Given the description of an element on the screen output the (x, y) to click on. 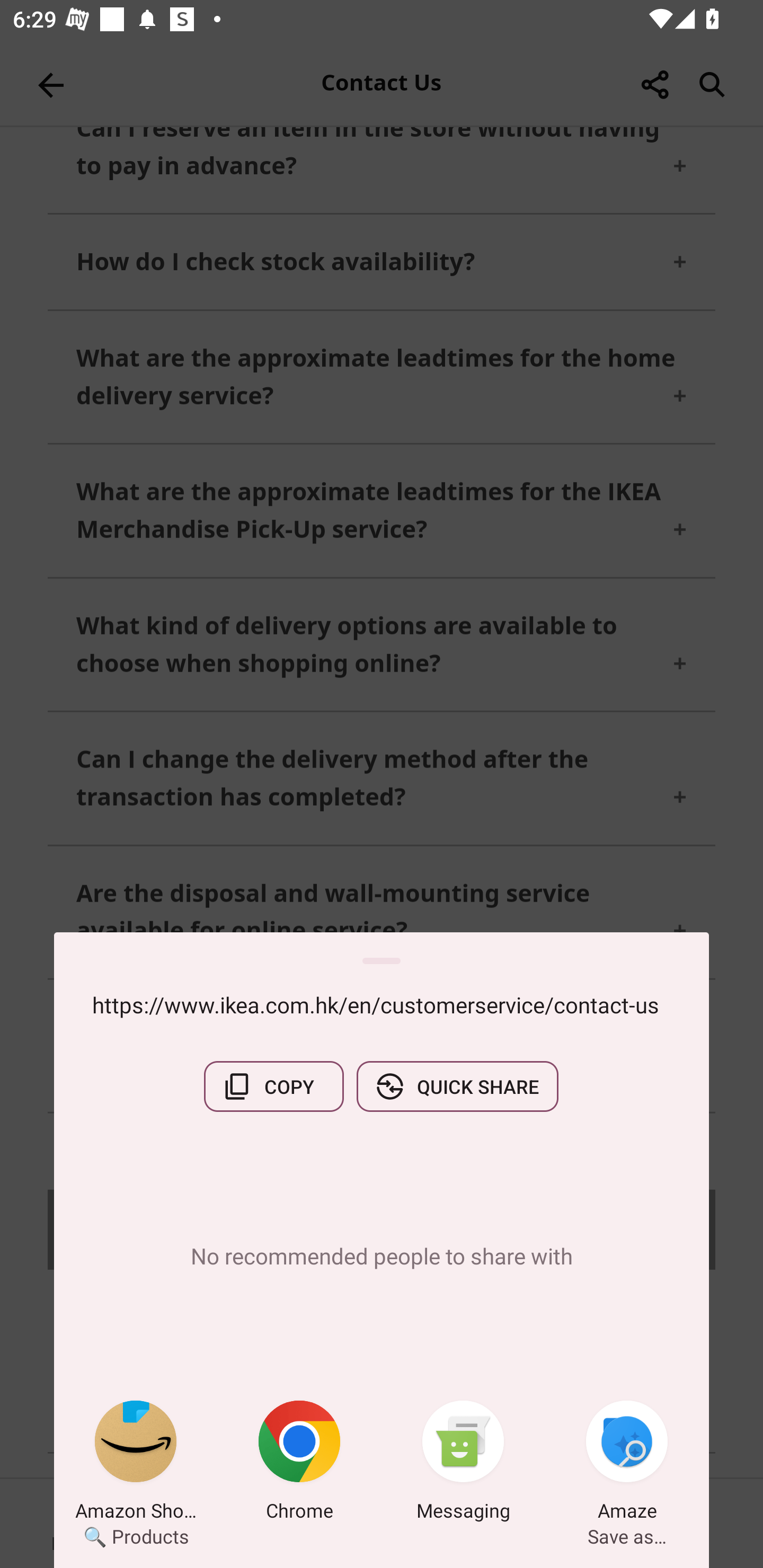
COPY (273, 1086)
QUICK SHARE (457, 1086)
Amazon Shopping 🔍 Products (135, 1463)
Chrome (299, 1463)
Messaging (463, 1463)
Amaze Save as… (626, 1463)
